Given the description of an element on the screen output the (x, y) to click on. 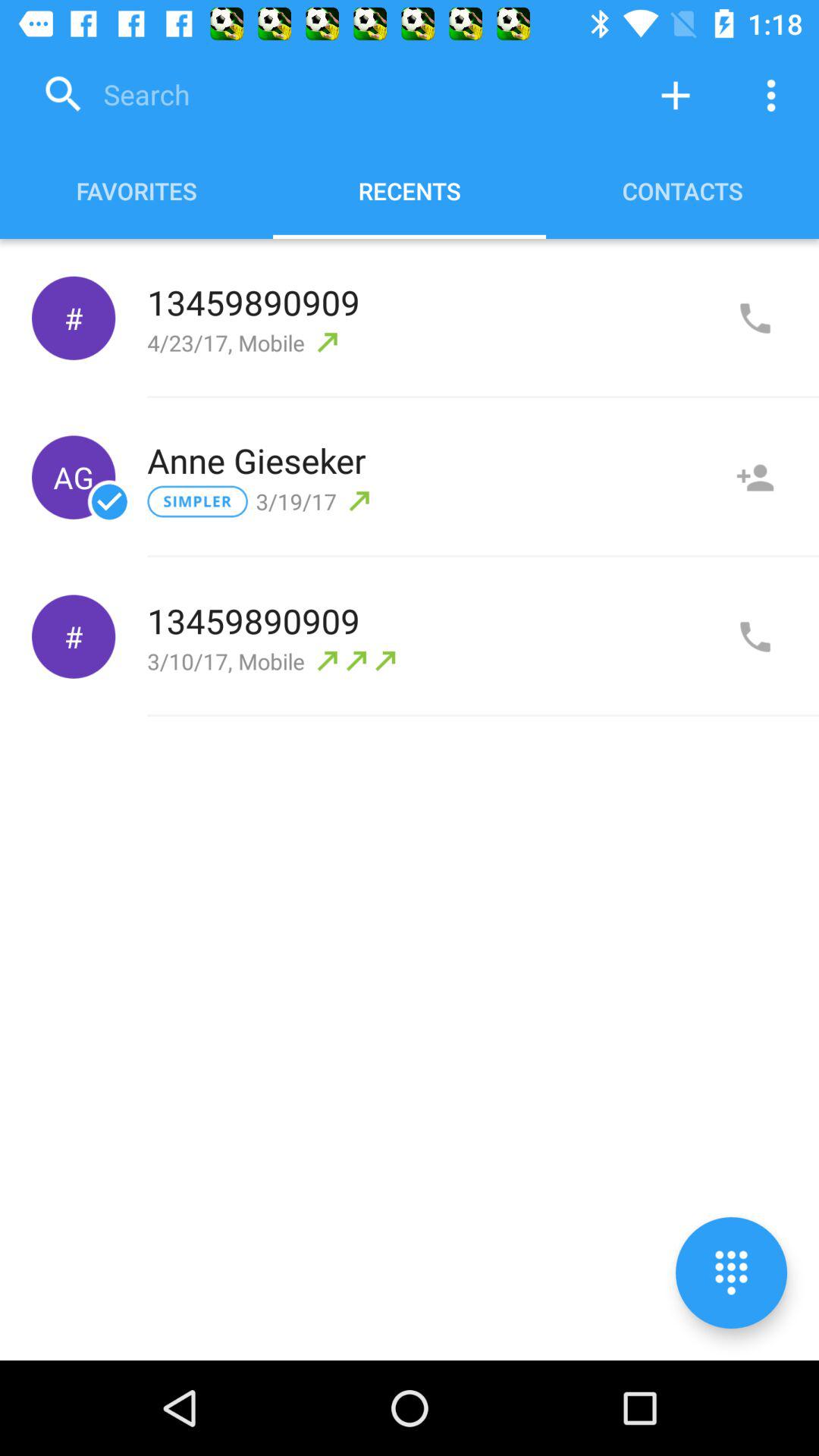
select the contact bar (755, 477)
